Given the description of an element on the screen output the (x, y) to click on. 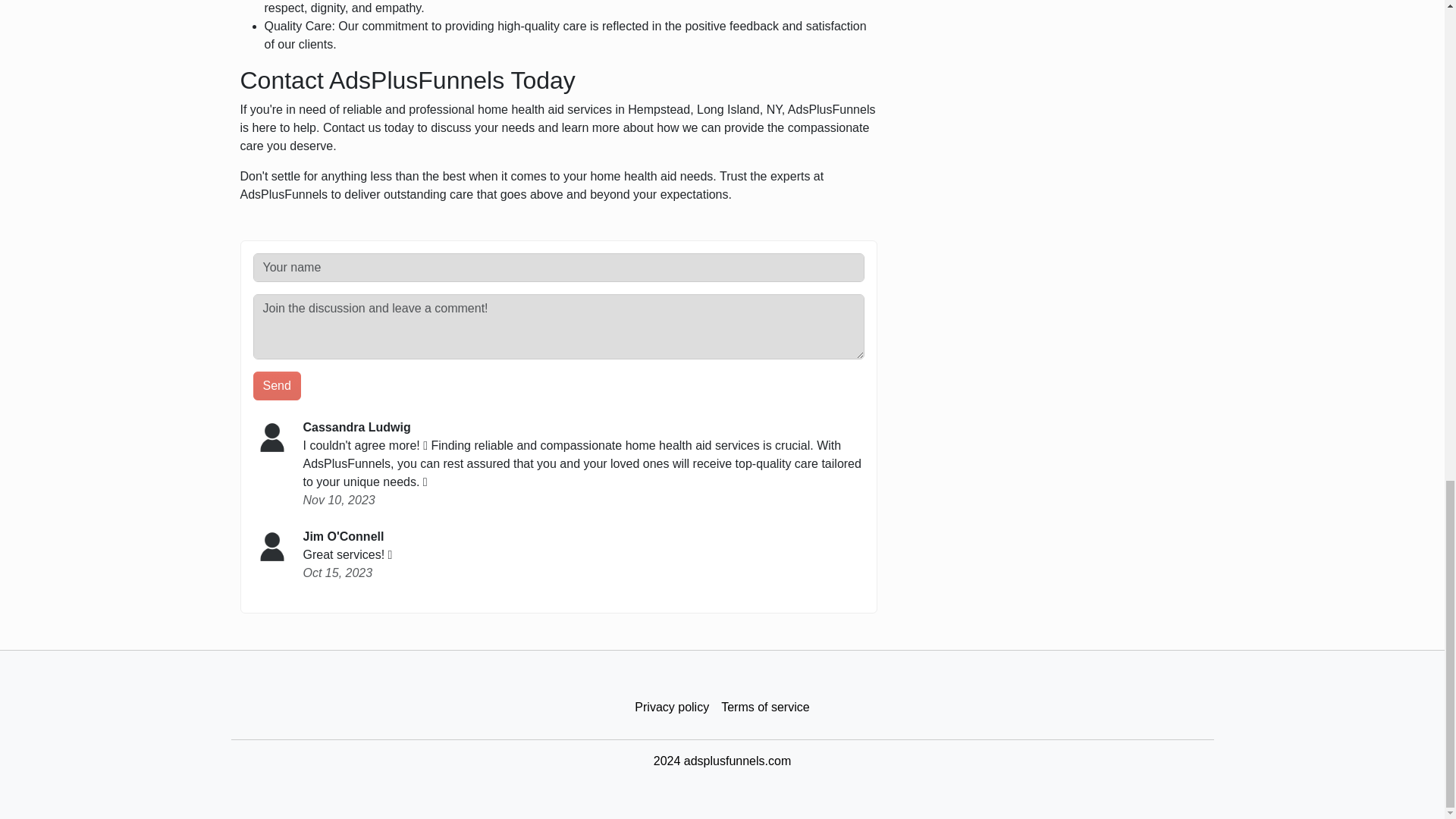
Privacy policy (671, 707)
Send (277, 385)
Terms of service (764, 707)
Send (277, 385)
